Given the description of an element on the screen output the (x, y) to click on. 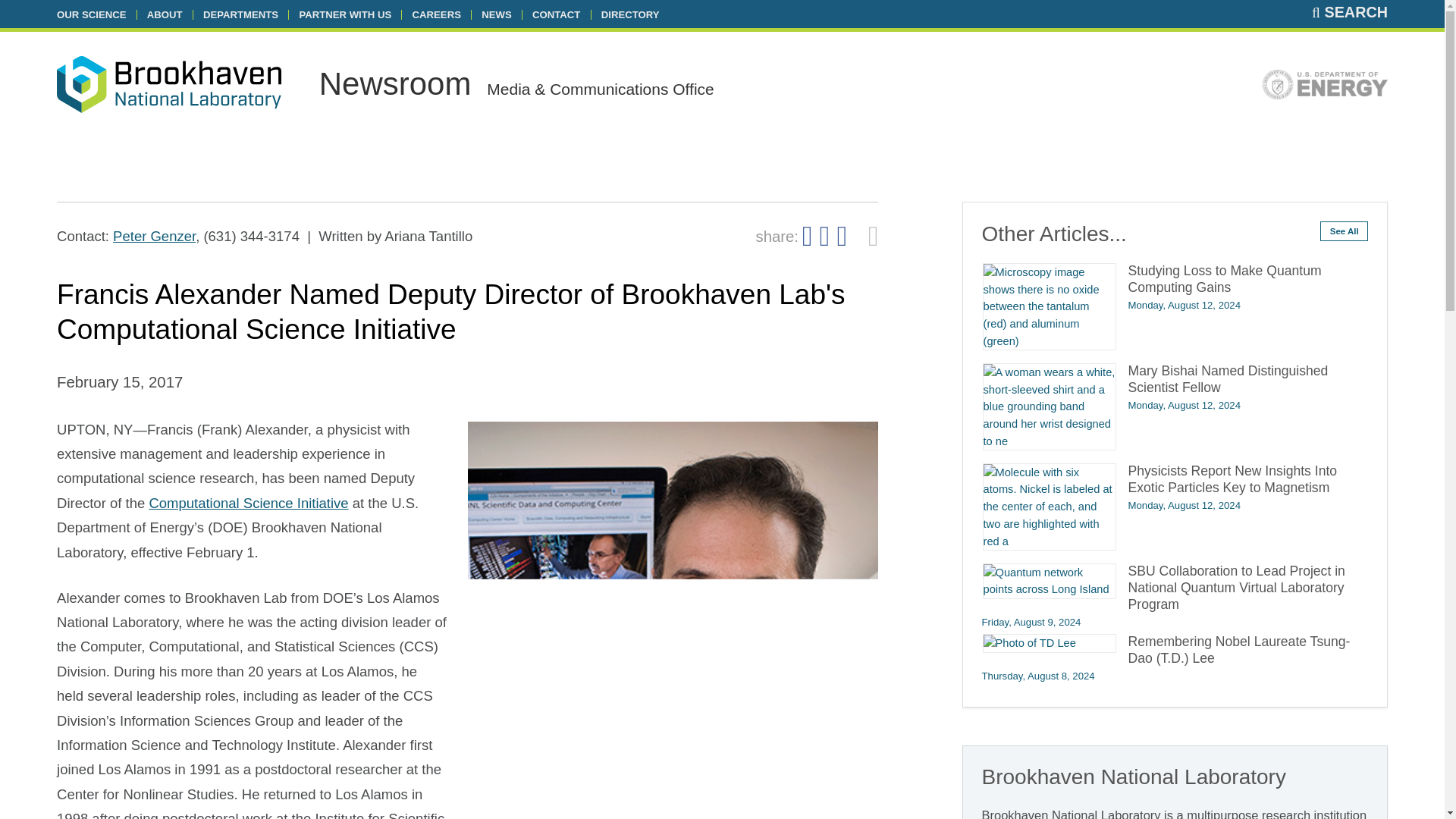
CAREERS (436, 14)
BNL Homepage (168, 84)
DOE Office of Science (1324, 87)
DEPARTMENTS (240, 14)
DIRECTORY (630, 14)
CONTACT (555, 14)
DOE Office of Science (1324, 84)
NEWS (496, 14)
ABOUT (165, 14)
BNL Homepage (168, 87)
